Given the description of an element on the screen output the (x, y) to click on. 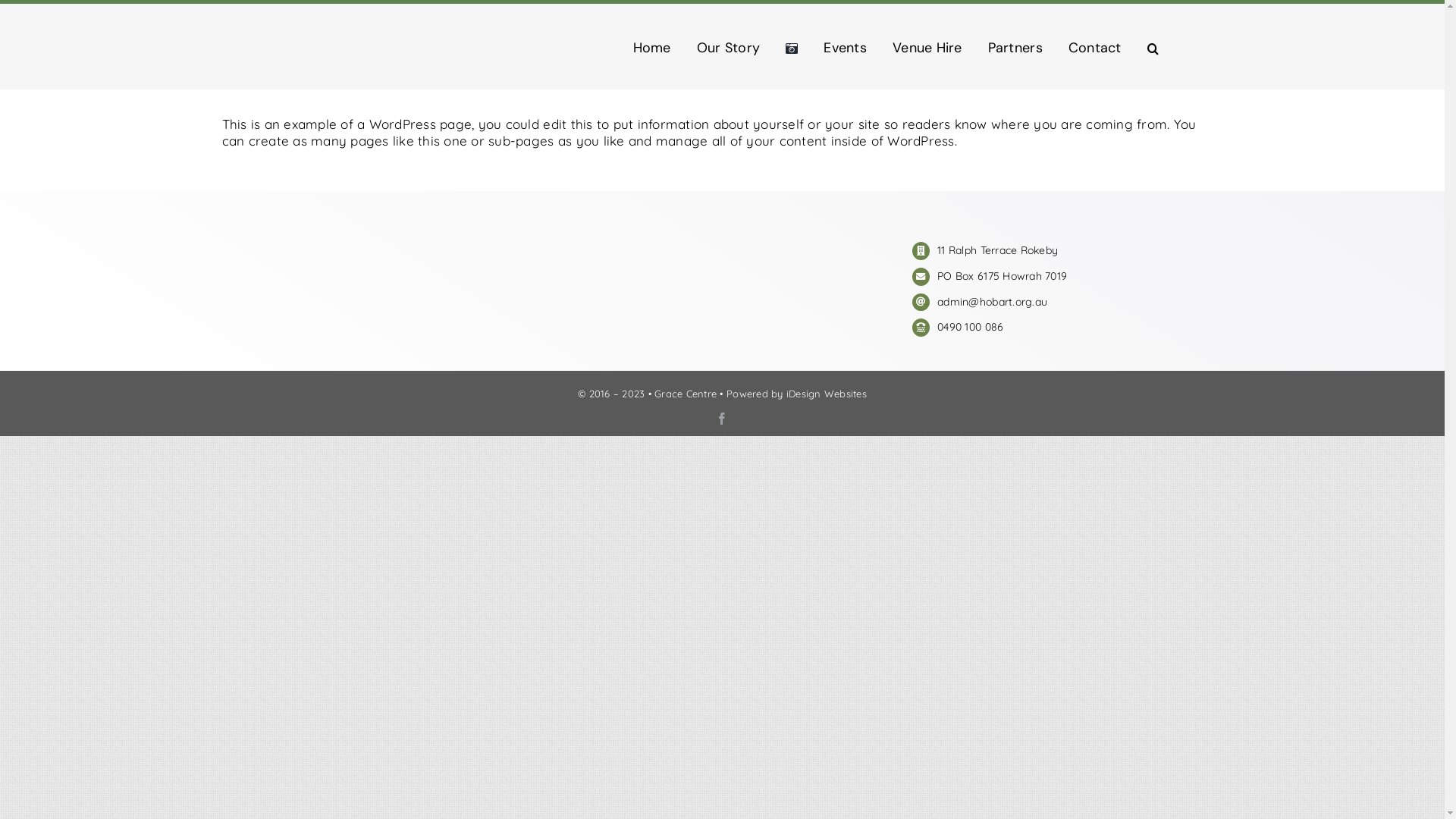
Search Element type: hover (1152, 48)
Venue Hire Element type: text (927, 47)
Our Gift to our community Element type: hover (331, 269)
Our Story Element type: text (727, 47)
Events Element type: text (844, 47)
Partners Element type: text (1015, 47)
Facebook Element type: hover (721, 418)
Contact Element type: text (1094, 47)
Home Element type: text (652, 47)
iDesign Websites Element type: text (826, 393)
